Given the description of an element on the screen output the (x, y) to click on. 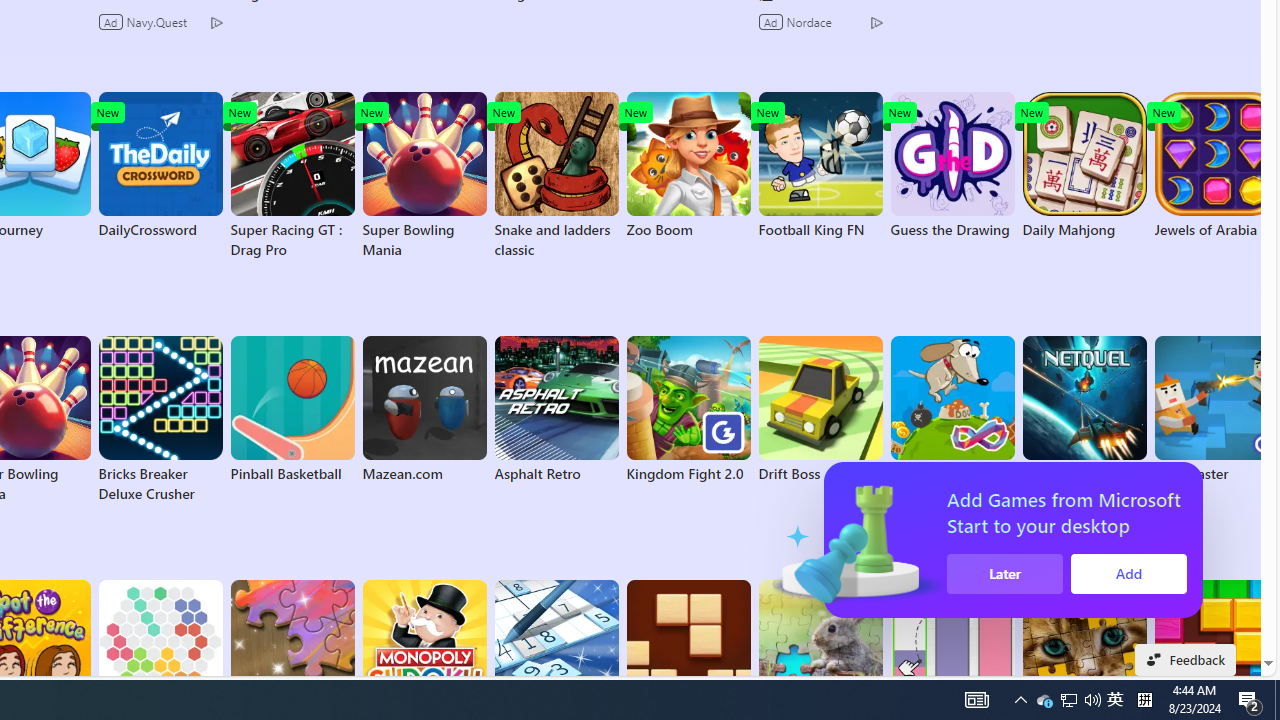
Drift Boss (820, 409)
Mazean.com (424, 409)
Jewels of Arabia (1216, 165)
netquel.com (1083, 409)
Asphalt Retro (556, 409)
DailyCrossword (160, 165)
Super Bowling Mania (424, 175)
Bricks Breaker Deluxe Crusher (160, 419)
Gun Master (1216, 409)
Guess the Drawing (952, 165)
Super Racing GT : Drag Pro (292, 175)
Football King FN (820, 165)
